Given the description of an element on the screen output the (x, y) to click on. 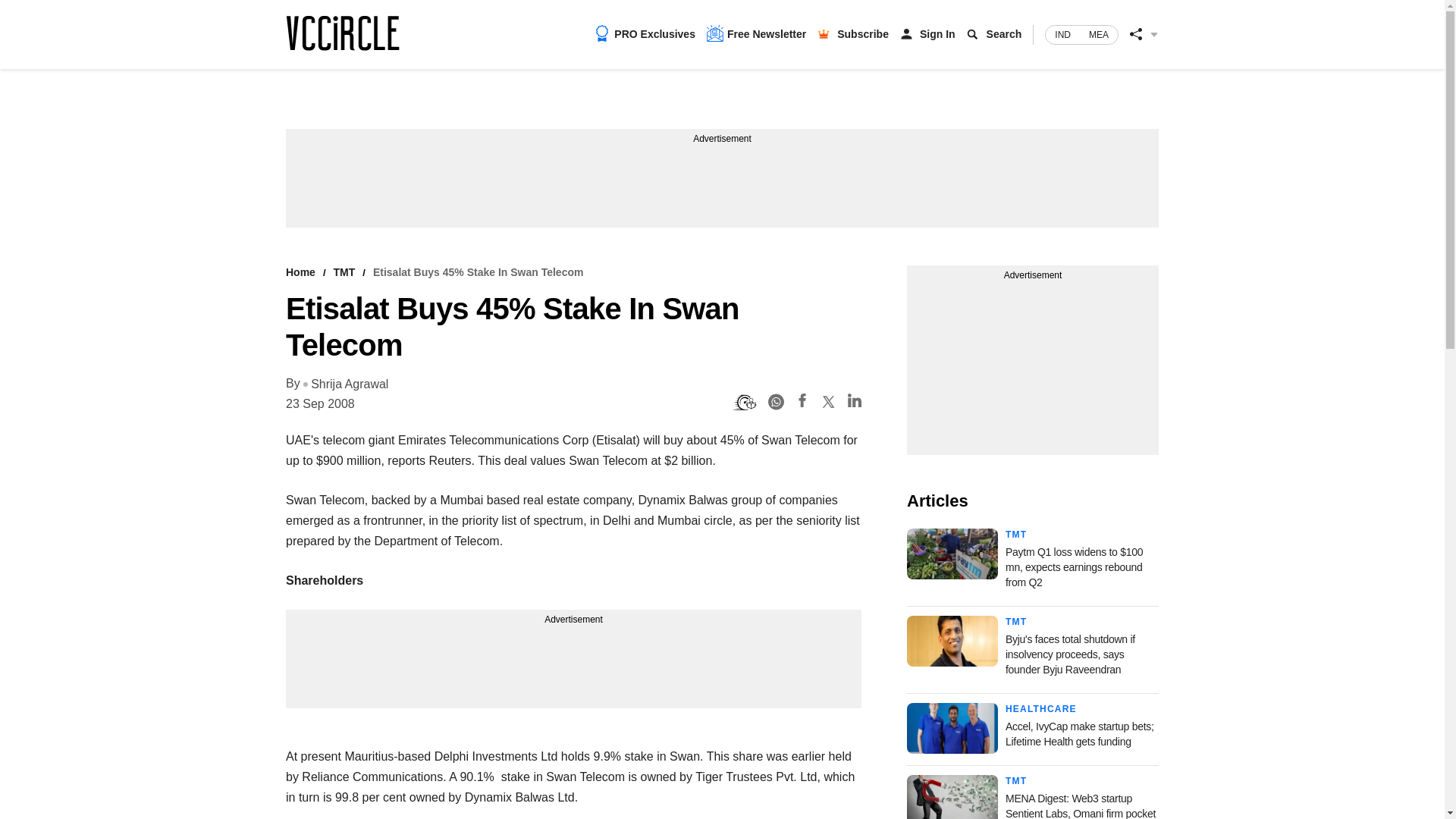
TMT (1016, 621)
IND (1062, 34)
HEALTHCARE (1041, 708)
Stay Home. Read Quality News (341, 32)
TMT (1016, 534)
MEA (1099, 34)
Shrija Agrawal (345, 384)
Subscribe (862, 33)
PRO Exclusives (644, 33)
TMT (1016, 780)
Free Newsletter (756, 33)
Search (1004, 33)
